Given the description of an element on the screen output the (x, y) to click on. 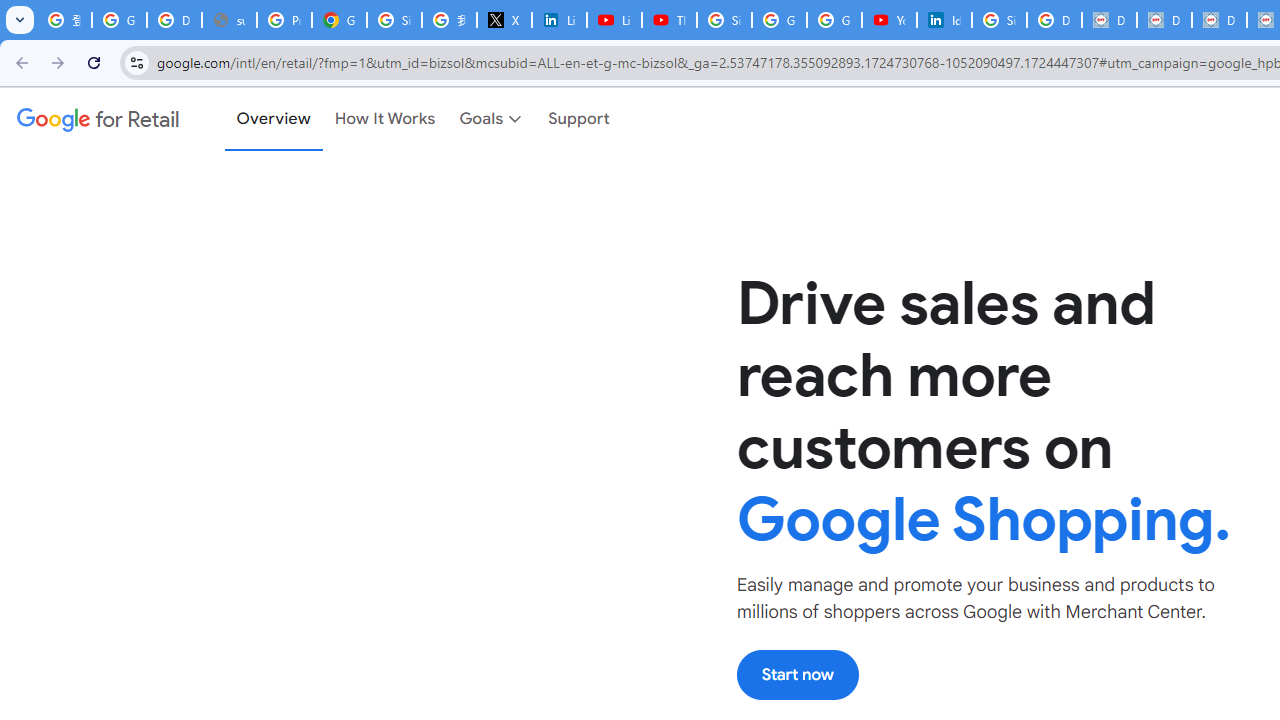
How It Works (385, 119)
LinkedIn - YouTube (614, 20)
Privacy Help Center - Policies Help (284, 20)
Sign in - Google Accounts (998, 20)
Support (579, 119)
Support (579, 119)
Sign in - Google Accounts (394, 20)
Start now (797, 673)
